Given the description of an element on the screen output the (x, y) to click on. 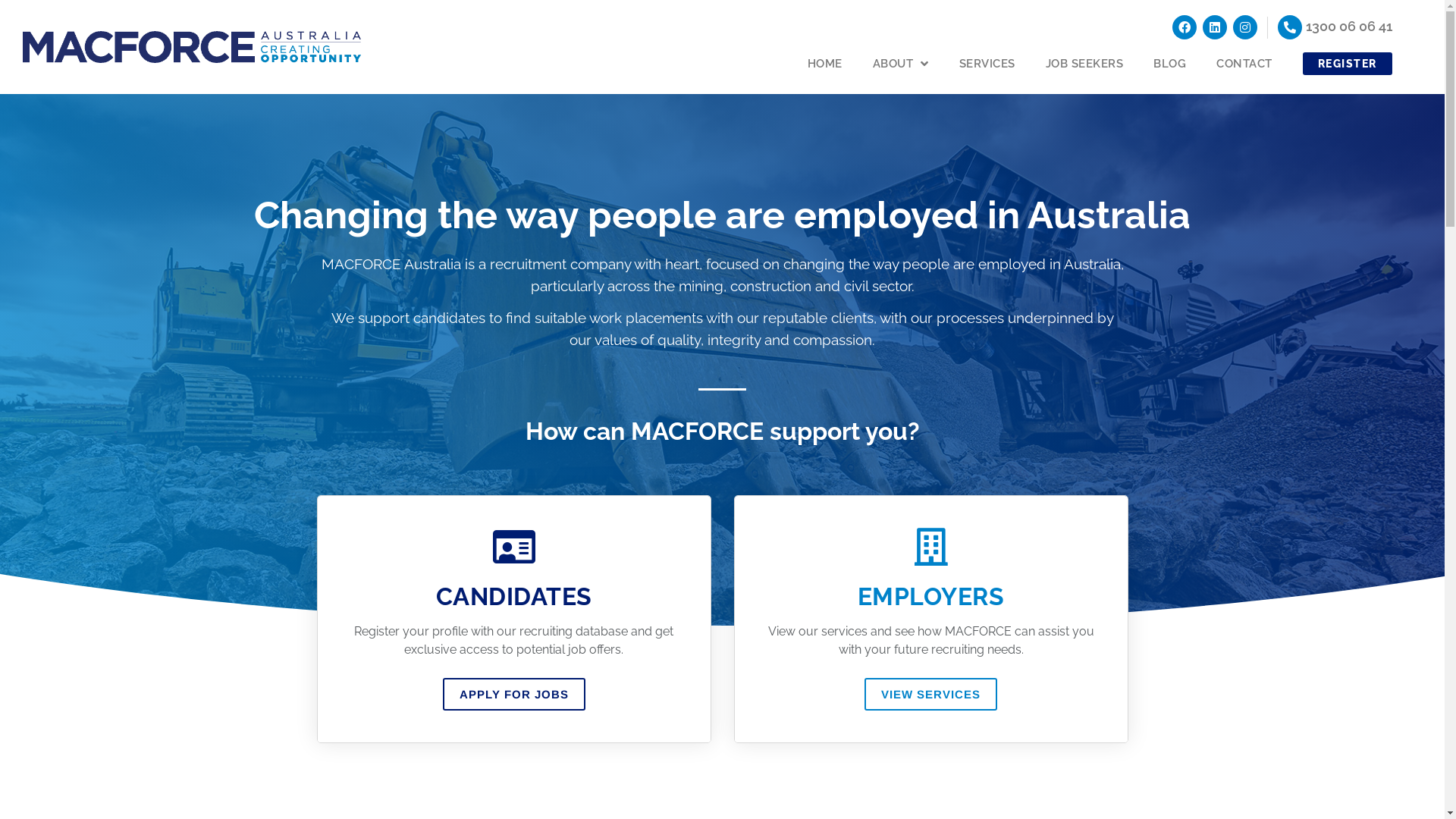
ABOUT Element type: text (900, 63)
CONTACT Element type: text (1244, 63)
REGISTER Element type: text (1347, 63)
HOME Element type: text (824, 63)
SERVICES Element type: text (987, 63)
BLOG Element type: text (1169, 63)
JOB SEEKERS Element type: text (1084, 63)
1300 06 06 41 Element type: text (1348, 26)
